Given the description of an element on the screen output the (x, y) to click on. 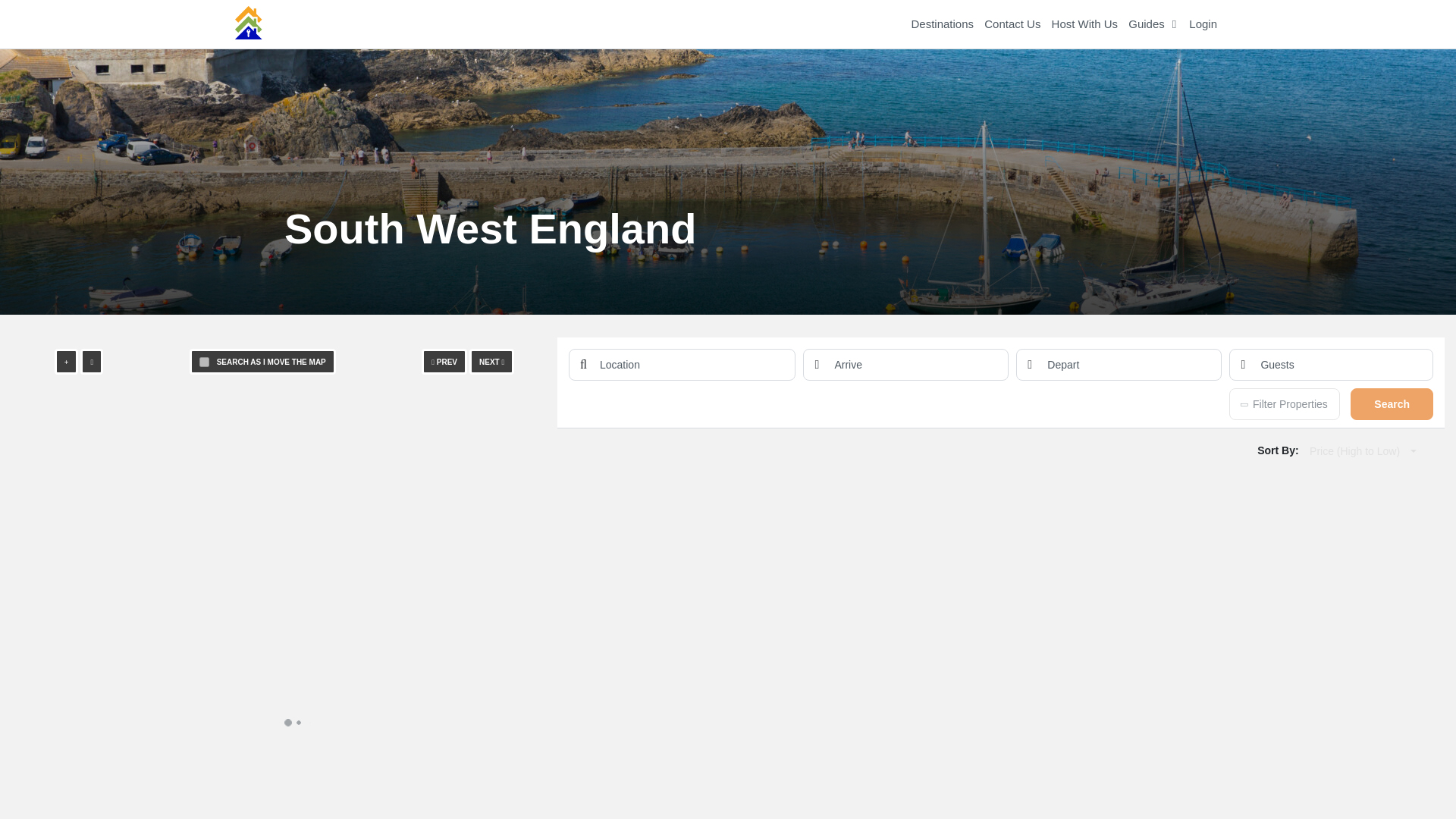
PREV (444, 361)
Contact Us (1011, 24)
Destinations (941, 24)
Guides (1151, 24)
Host With Us (1085, 24)
on (204, 361)
Filter Properties (1283, 404)
NEXT (490, 361)
